Given the description of an element on the screen output the (x, y) to click on. 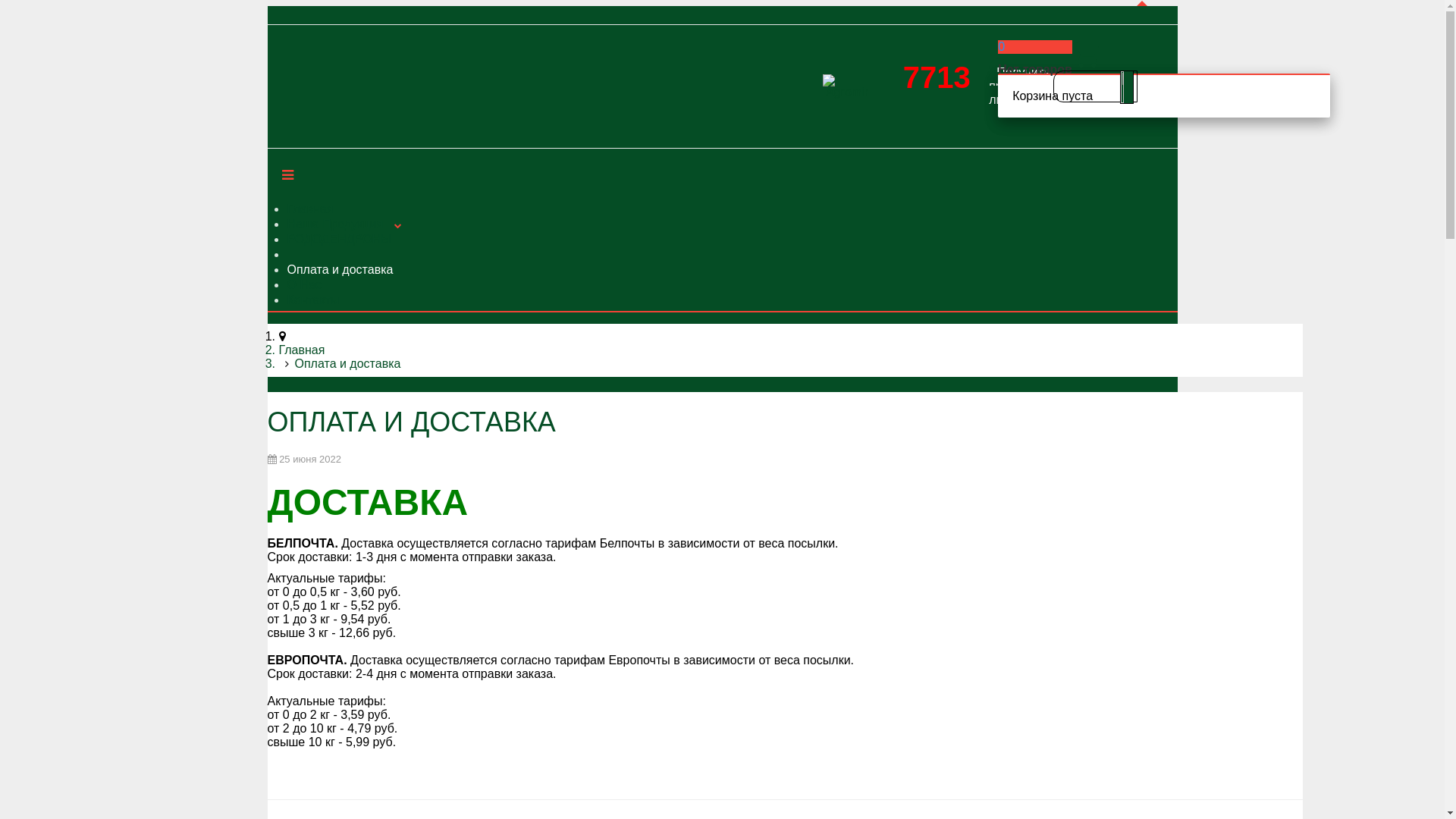
7713 Element type: text (936, 77)
Agromir Element type: hover (843, 86)
